Given the description of an element on the screen output the (x, y) to click on. 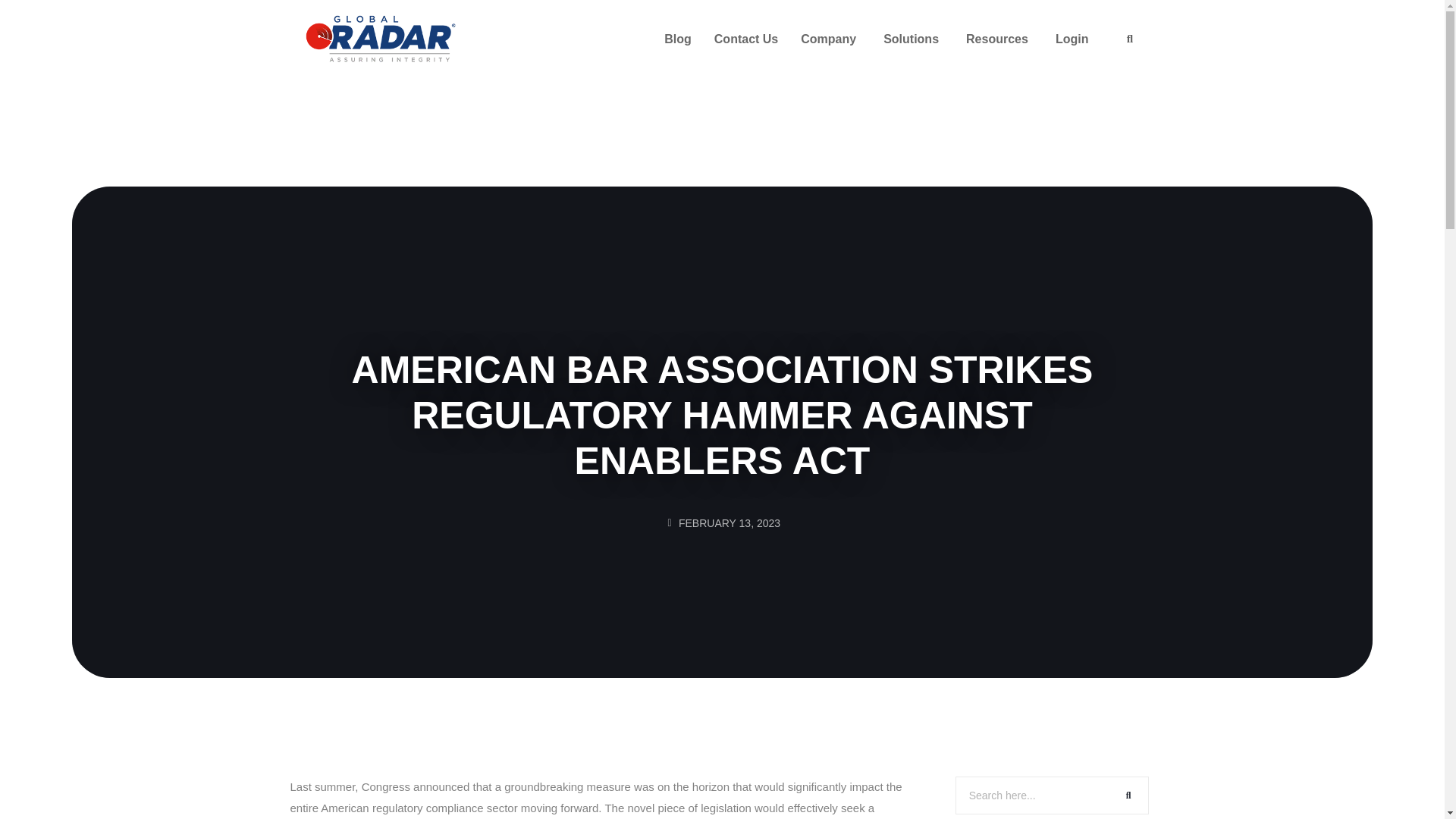
Company (830, 39)
Resources (999, 39)
Contact Us (746, 39)
Solutions (913, 39)
Login (1074, 39)
Blog (677, 39)
